Given the description of an element on the screen output the (x, y) to click on. 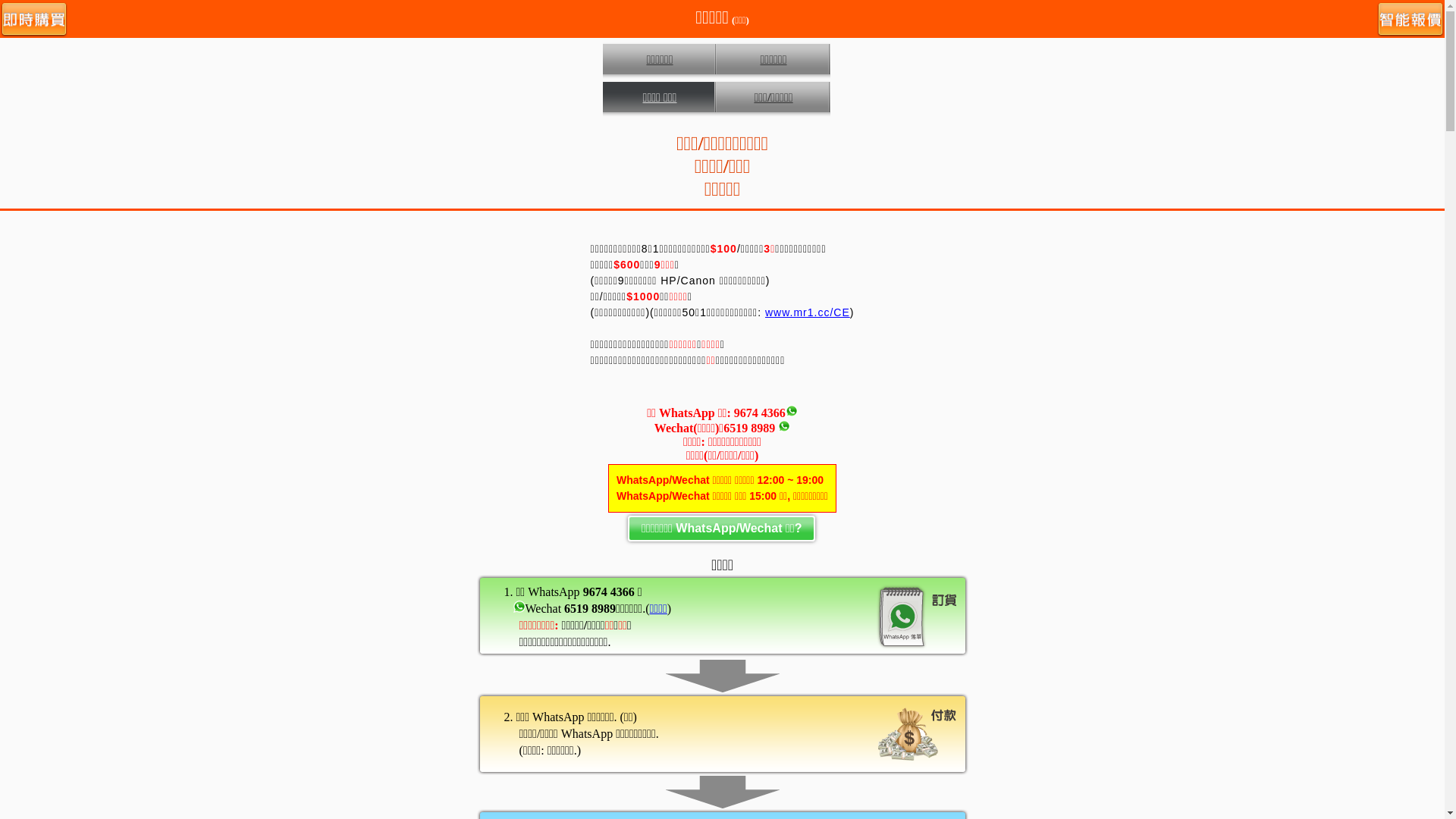
www.mr1.cc/CE Element type: text (807, 312)
